Given the description of an element on the screen output the (x, y) to click on. 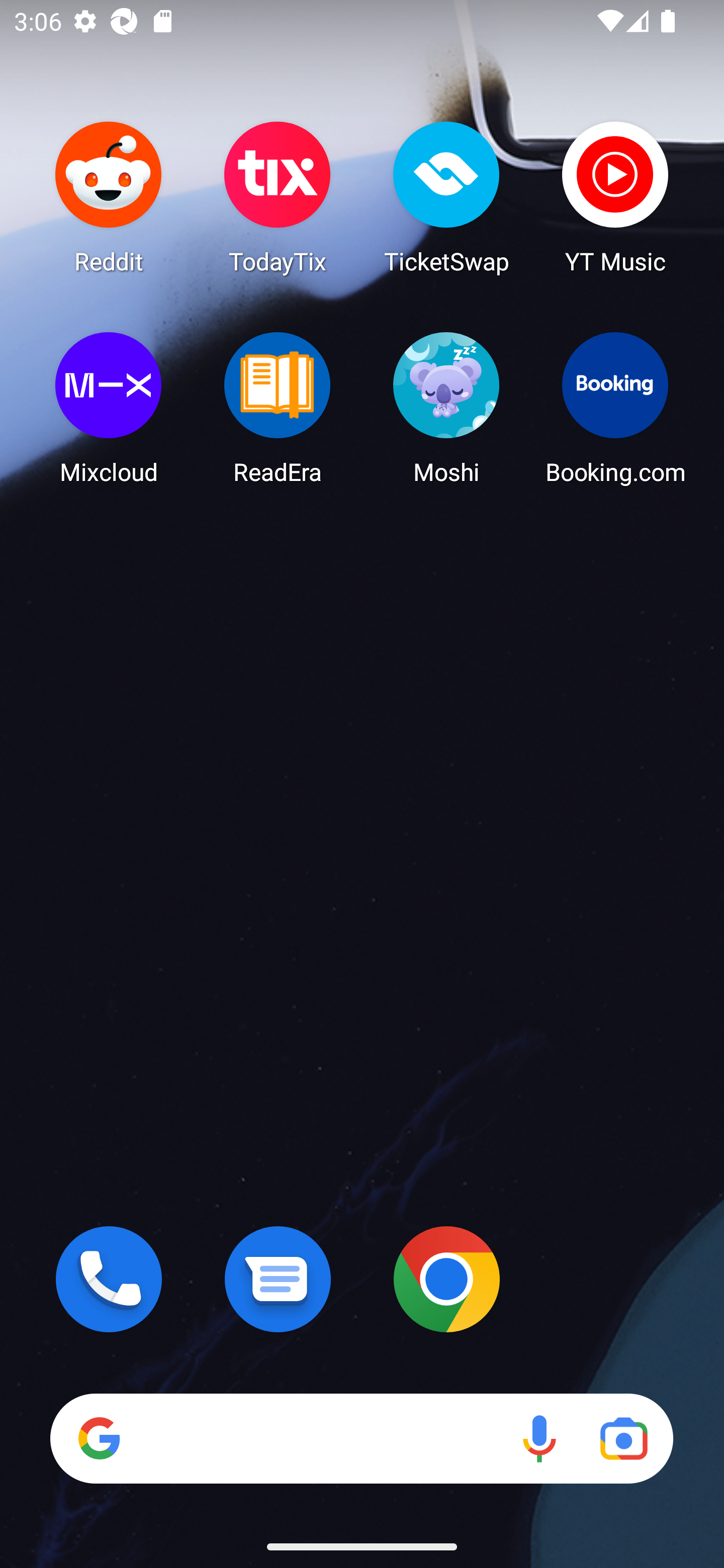
Reddit (108, 196)
TodayTix (277, 196)
TicketSwap (445, 196)
YT Music (615, 196)
Mixcloud (108, 407)
ReadEra (277, 407)
Moshi (445, 407)
Booking.com (615, 407)
Phone (108, 1279)
Messages (277, 1279)
Chrome (446, 1279)
Search Voice search Google Lens (361, 1438)
Voice search (539, 1438)
Google Lens (623, 1438)
